Given the description of an element on the screen output the (x, y) to click on. 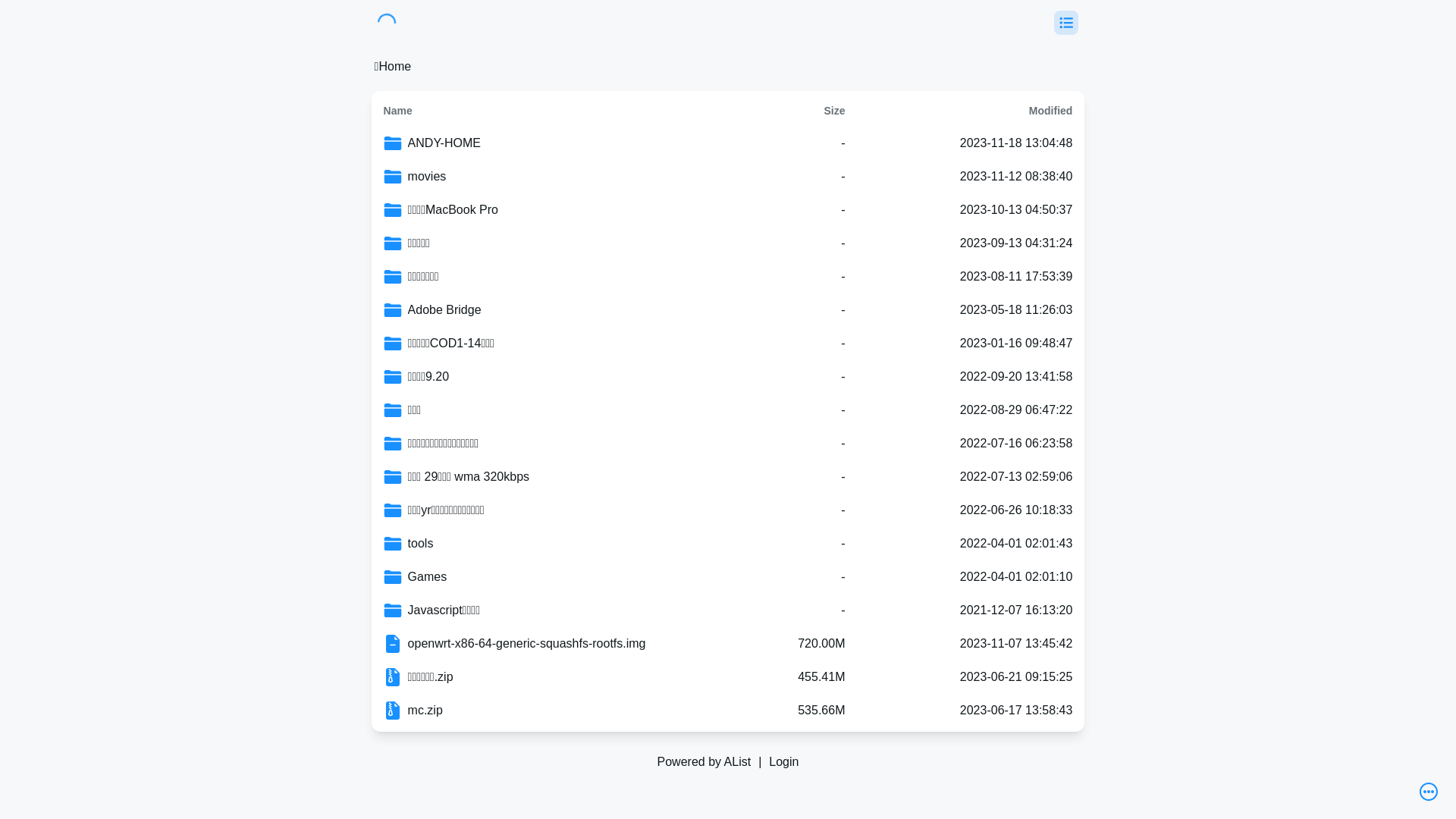
movies
-
2023-11-12 08:38:40 Element type: text (728, 176)
mc.zip
535.66M
2023-06-17 13:58:43 Element type: text (728, 710)
Login Element type: text (783, 761)
tools
-
2022-04-01 02:01:43 Element type: text (728, 543)
ANDY-HOME
-
2023-11-18 13:04:48 Element type: text (728, 143)
Powered by AList Element type: text (704, 761)
Adobe Bridge
-
2023-05-18 11:26:03 Element type: text (728, 309)
Games
-
2022-04-01 02:01:10 Element type: text (728, 576)
